Given the description of an element on the screen output the (x, y) to click on. 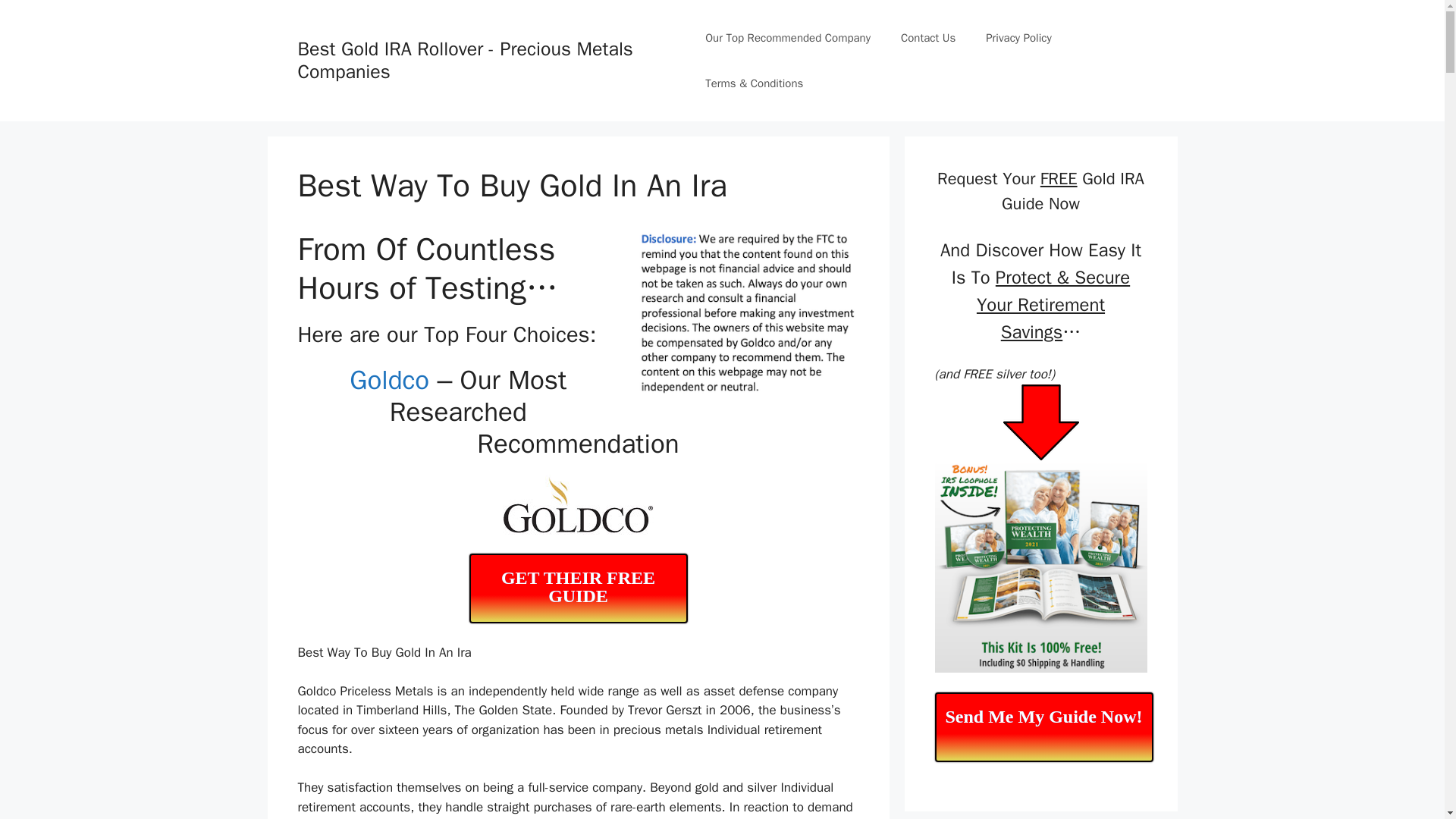
Best Gold IRA Rollover - Precious Metals Companies (464, 59)
Our Top Recommended Company (787, 37)
Send Me My Guide Now! (1043, 727)
Privacy Policy (1019, 37)
GET THEIR FREE GUIDE (577, 588)
Contact Us (928, 37)
Goldco (389, 379)
